Given the description of an element on the screen output the (x, y) to click on. 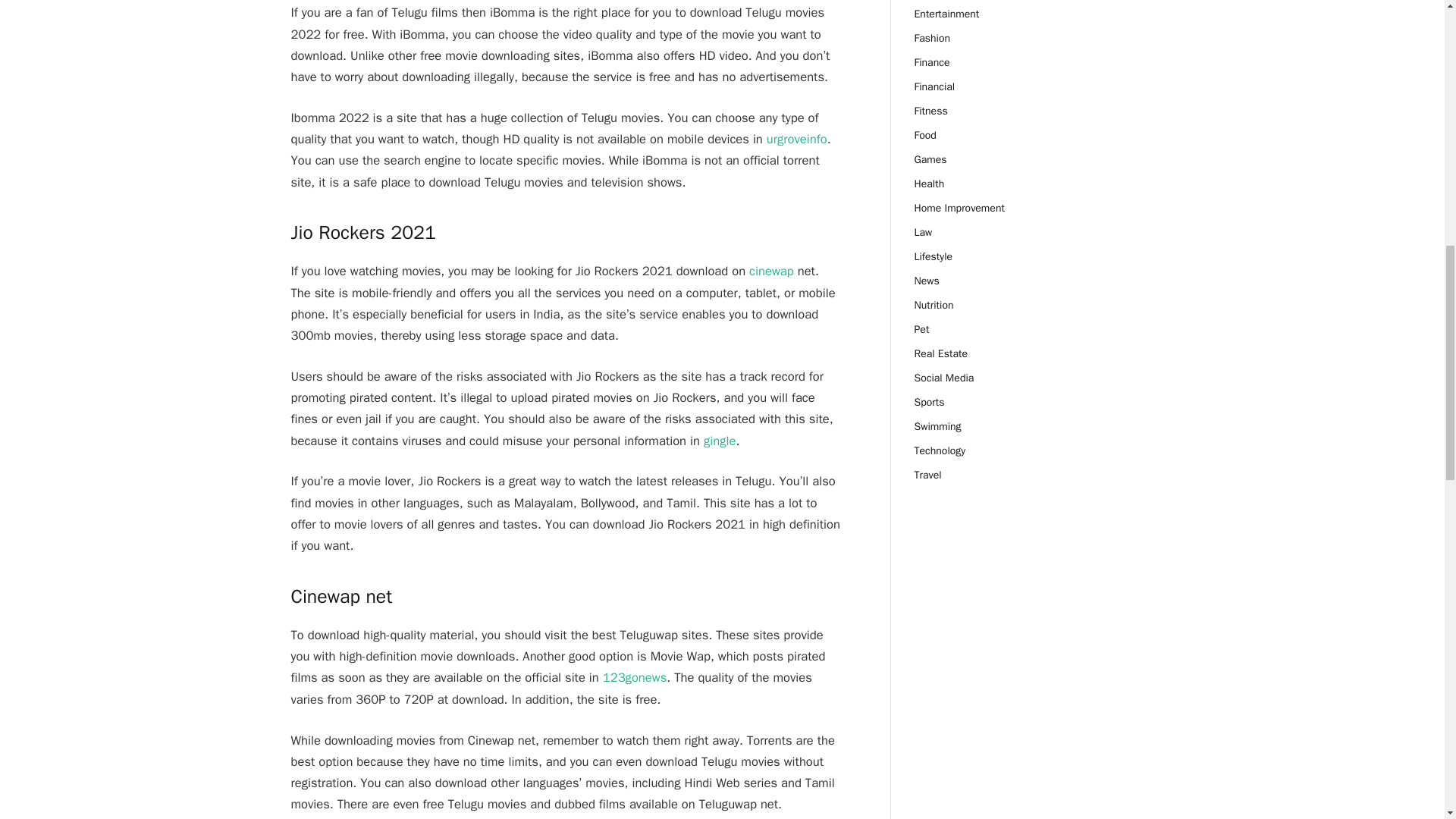
123gonews (634, 677)
cinewap (771, 270)
gingle (719, 440)
urgroveinfo (797, 139)
